Given the description of an element on the screen output the (x, y) to click on. 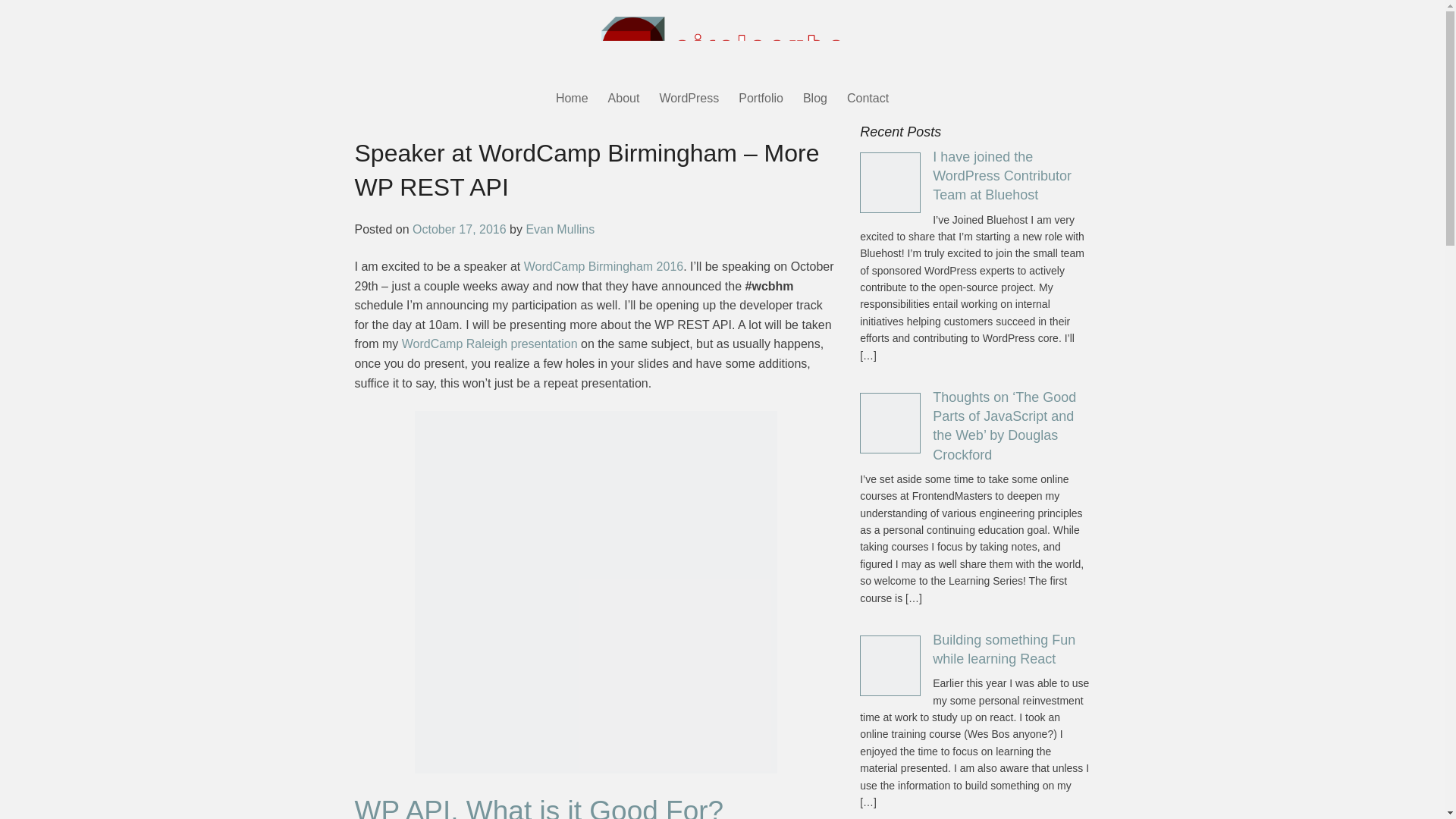
WP API, What is it Good For? Absolutely Everything! (539, 807)
Building something Fun while learning React (1004, 649)
Portfolio (761, 100)
Evan Mullins (559, 228)
circlecube (721, 43)
October 17, 2016 (459, 228)
About (623, 100)
Home (572, 100)
I have joined the WordPress Contributor Team at Bluehost (1002, 175)
WordCamp Raleigh presentation (489, 343)
Contact (867, 100)
WordPress (689, 100)
Blog (815, 100)
WordCamp Birmingham 2016 (603, 266)
